Given the description of an element on the screen output the (x, y) to click on. 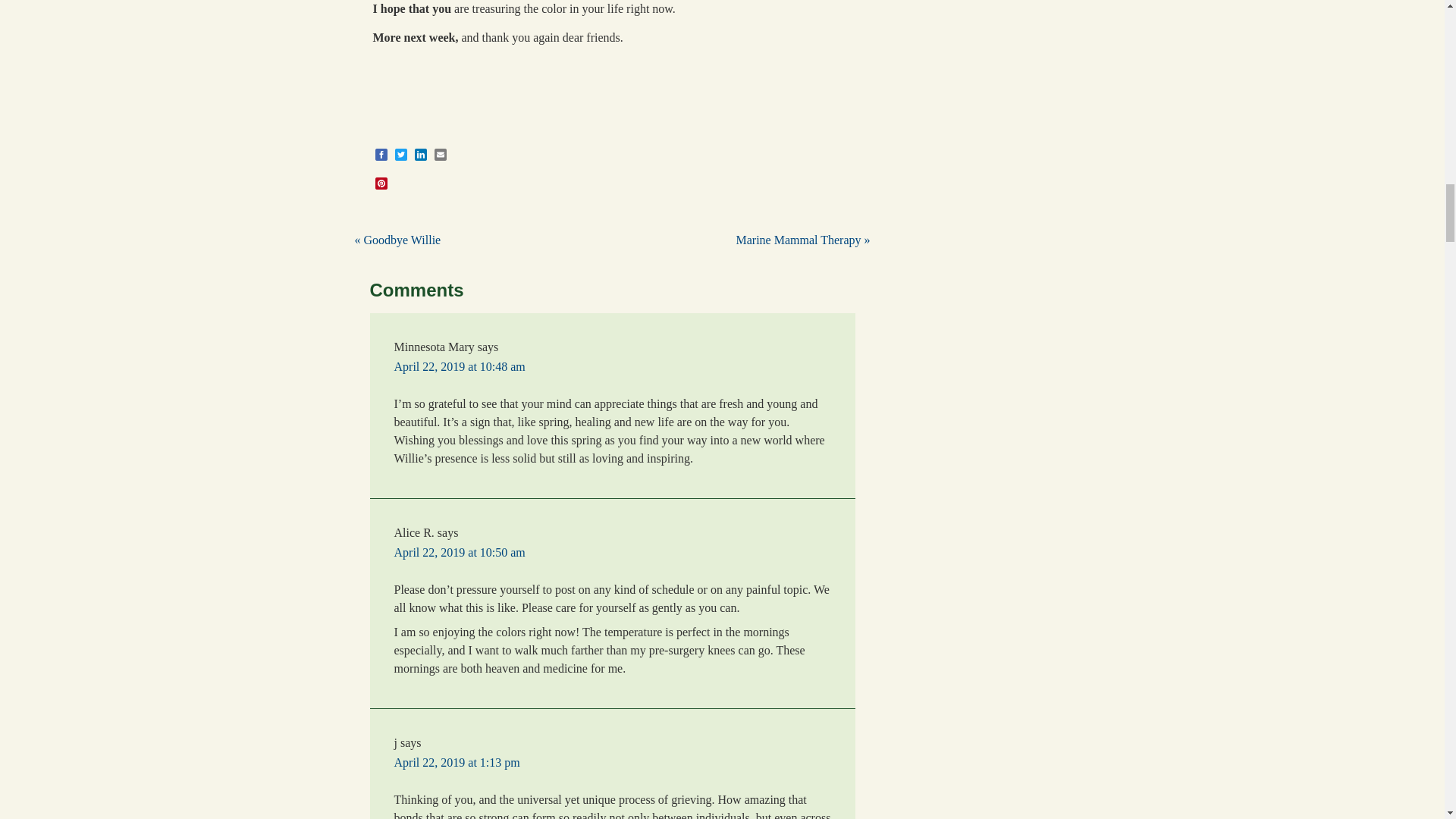
April 22, 2019 at 10:50 am (459, 552)
April 22, 2019 at 10:48 am (459, 366)
April 22, 2019 at 1:13 pm (456, 762)
